Given the description of an element on the screen output the (x, y) to click on. 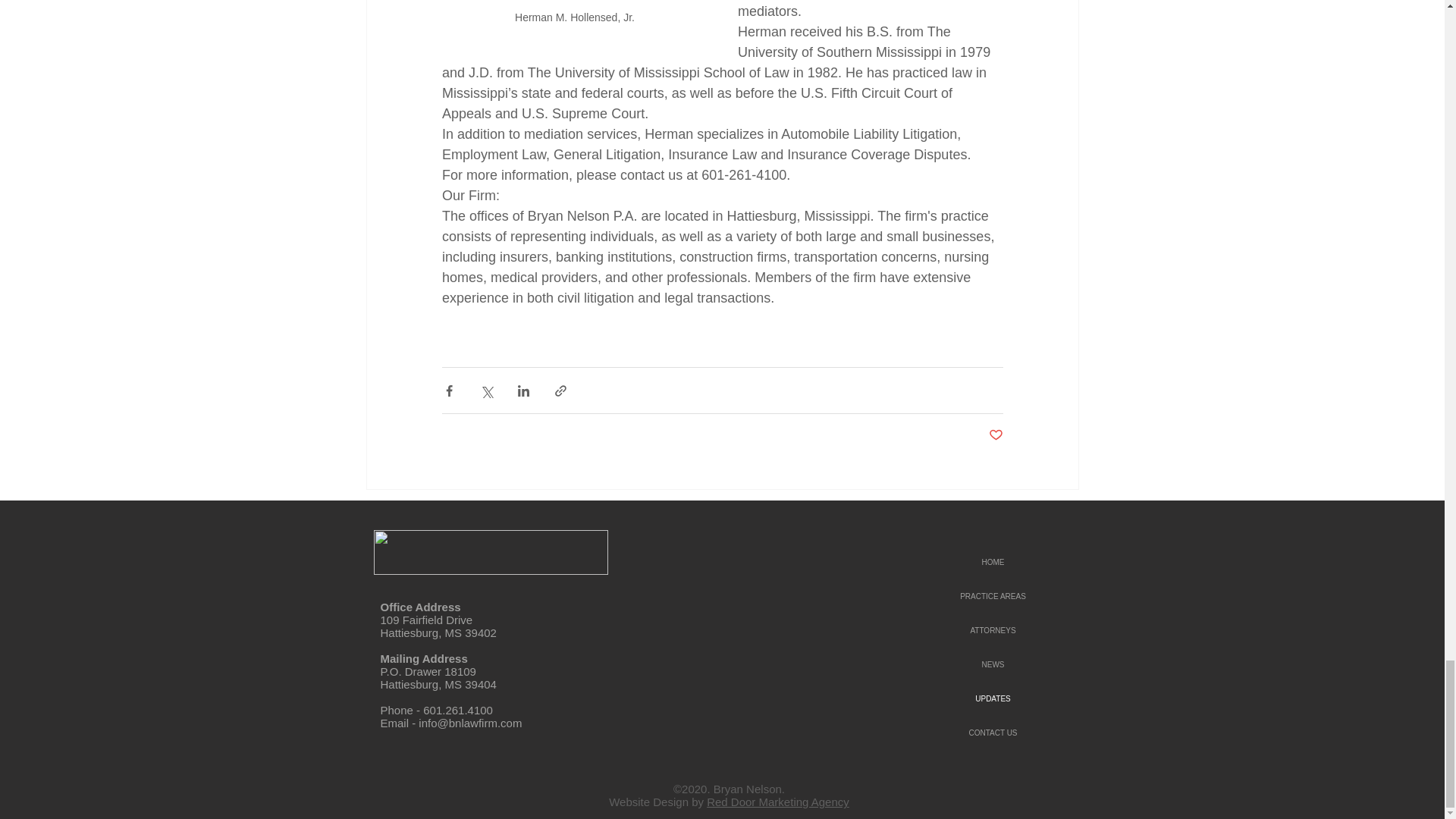
ATTORNEYS (992, 630)
HOME (992, 562)
PRACTICE AREAS (992, 596)
Post not marked as liked (995, 435)
NEWS (992, 664)
